Given the description of an element on the screen output the (x, y) to click on. 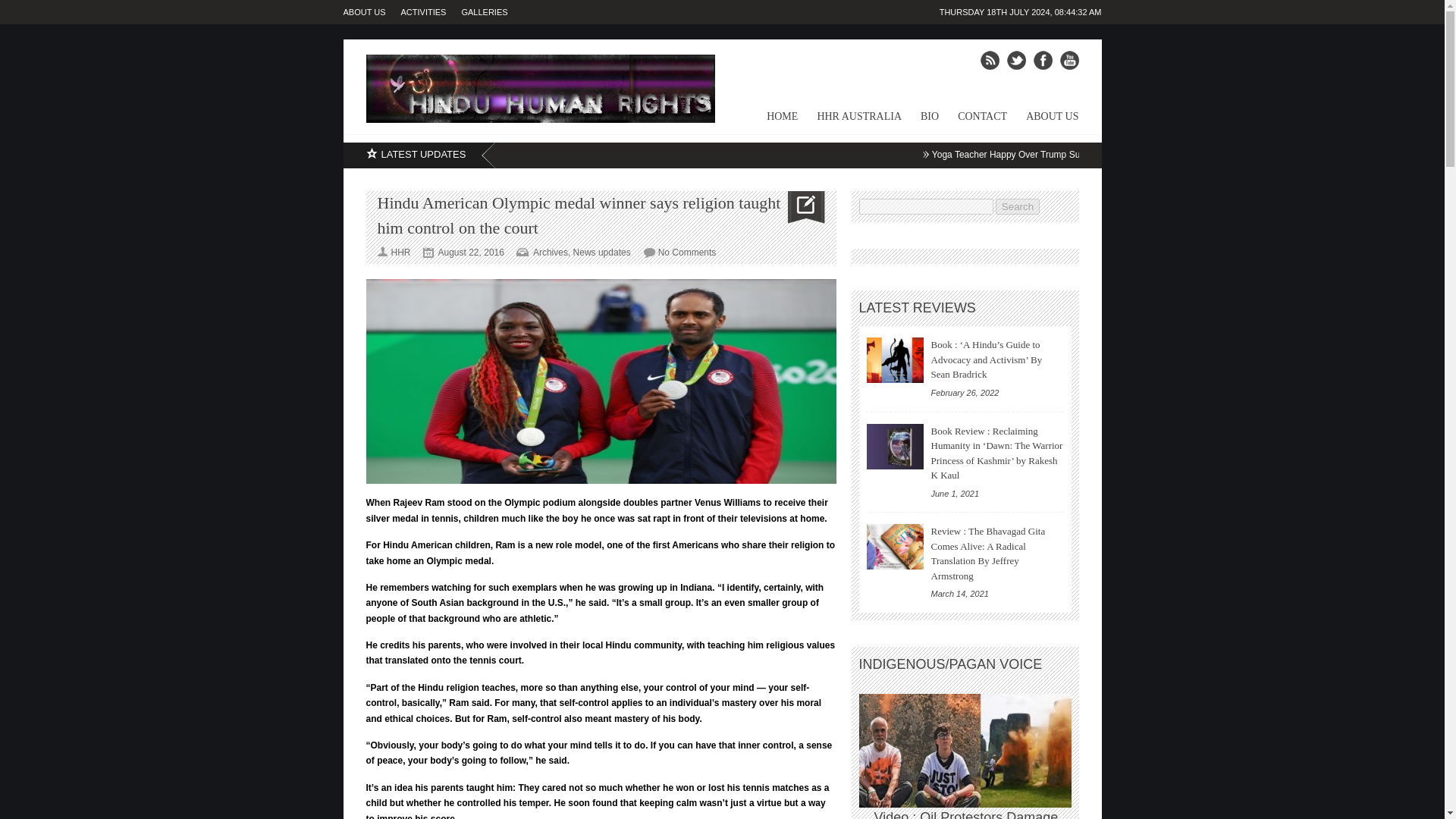
Video :  Oil Protestors Damage Ancient Stonehenge (972, 750)
ACTIVITIES (431, 12)
ABOUT US (1042, 121)
Search (1017, 206)
GALLERIES (491, 12)
Archives (549, 252)
Yoga Teacher Happy Over Trump Supporter Killed (1032, 154)
HHR AUSTRALIA (849, 121)
HOME (772, 121)
BIO (920, 121)
News updates (601, 252)
CONTACT (973, 121)
